Given the description of an element on the screen output the (x, y) to click on. 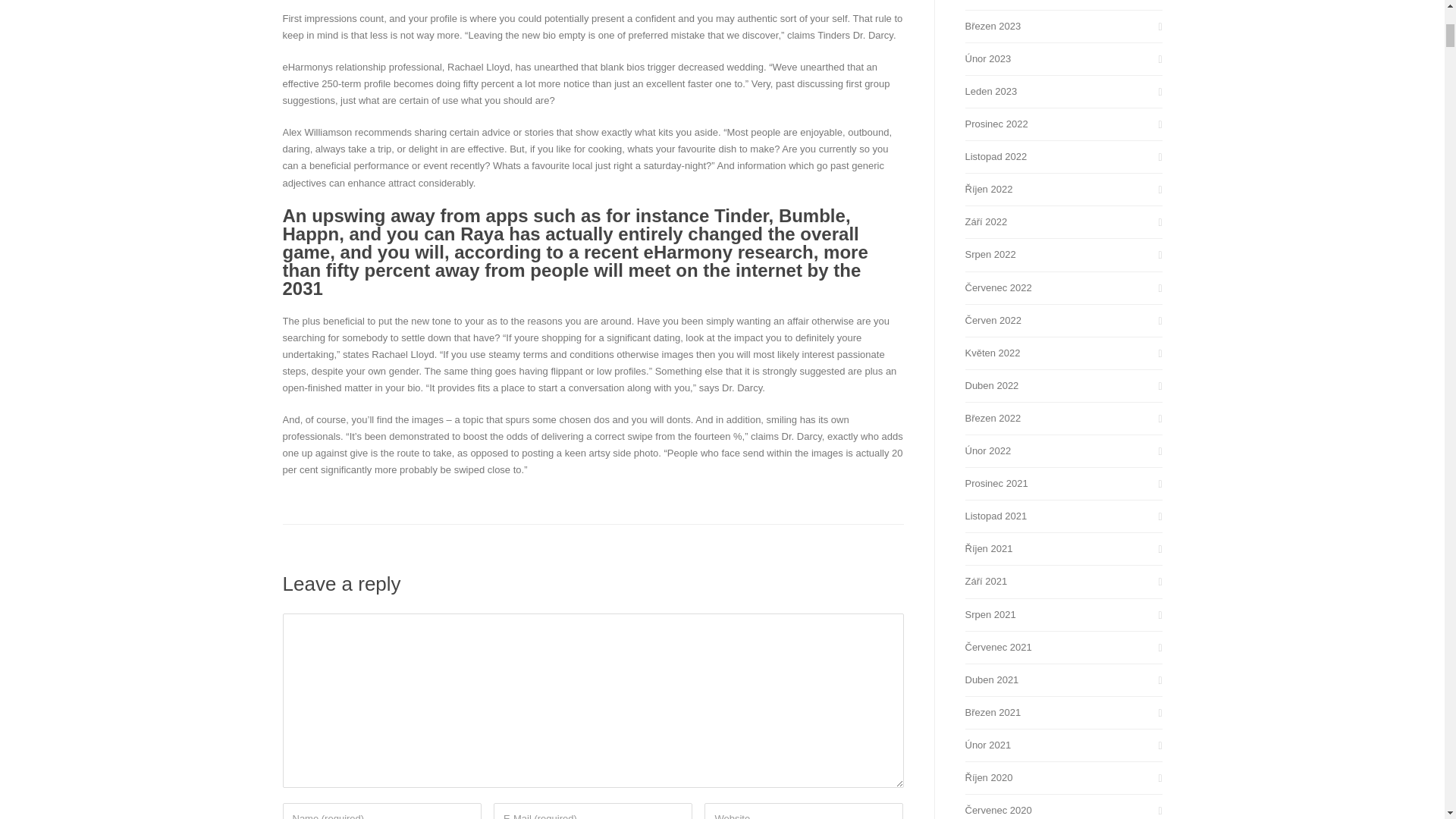
Srpen 2022 (1062, 254)
Listopad 2021 (1062, 515)
Website (803, 811)
Duben 2023 (1062, 1)
Prosinec 2021 (1062, 483)
Prosinec 2022 (1062, 124)
Listopad 2022 (1062, 156)
Duben 2022 (1062, 385)
Leden 2023 (1062, 91)
